Given the description of an element on the screen output the (x, y) to click on. 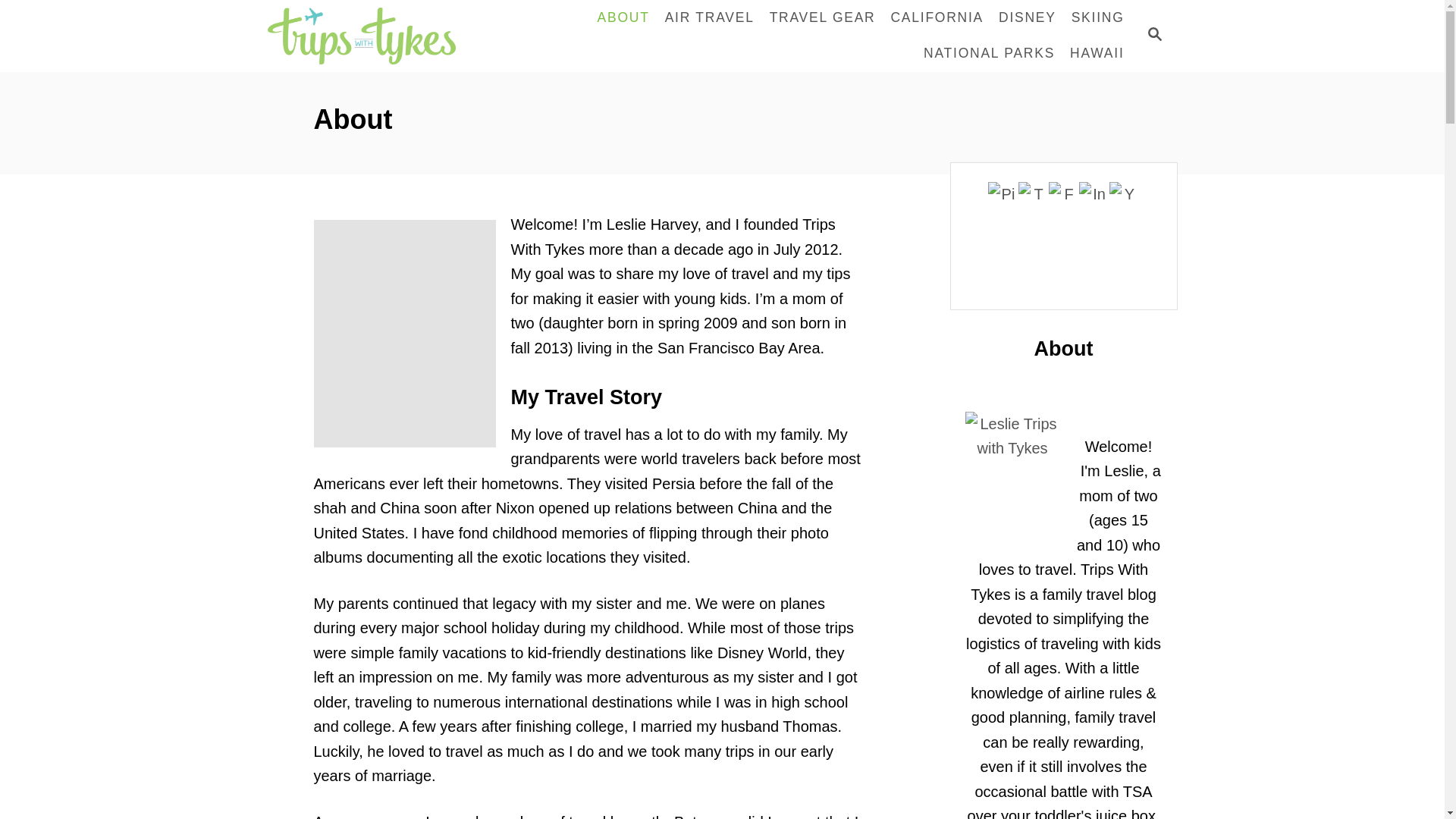
ABOUT (623, 18)
Trips With Tykes (366, 36)
SKIING (1098, 18)
AIR TRAVEL (709, 18)
NATIONAL PARKS (988, 53)
SEARCH (1153, 35)
DISNEY (1027, 18)
TRAVEL GEAR (822, 18)
HAWAII (1096, 53)
CALIFORNIA (936, 18)
